Given the description of an element on the screen output the (x, y) to click on. 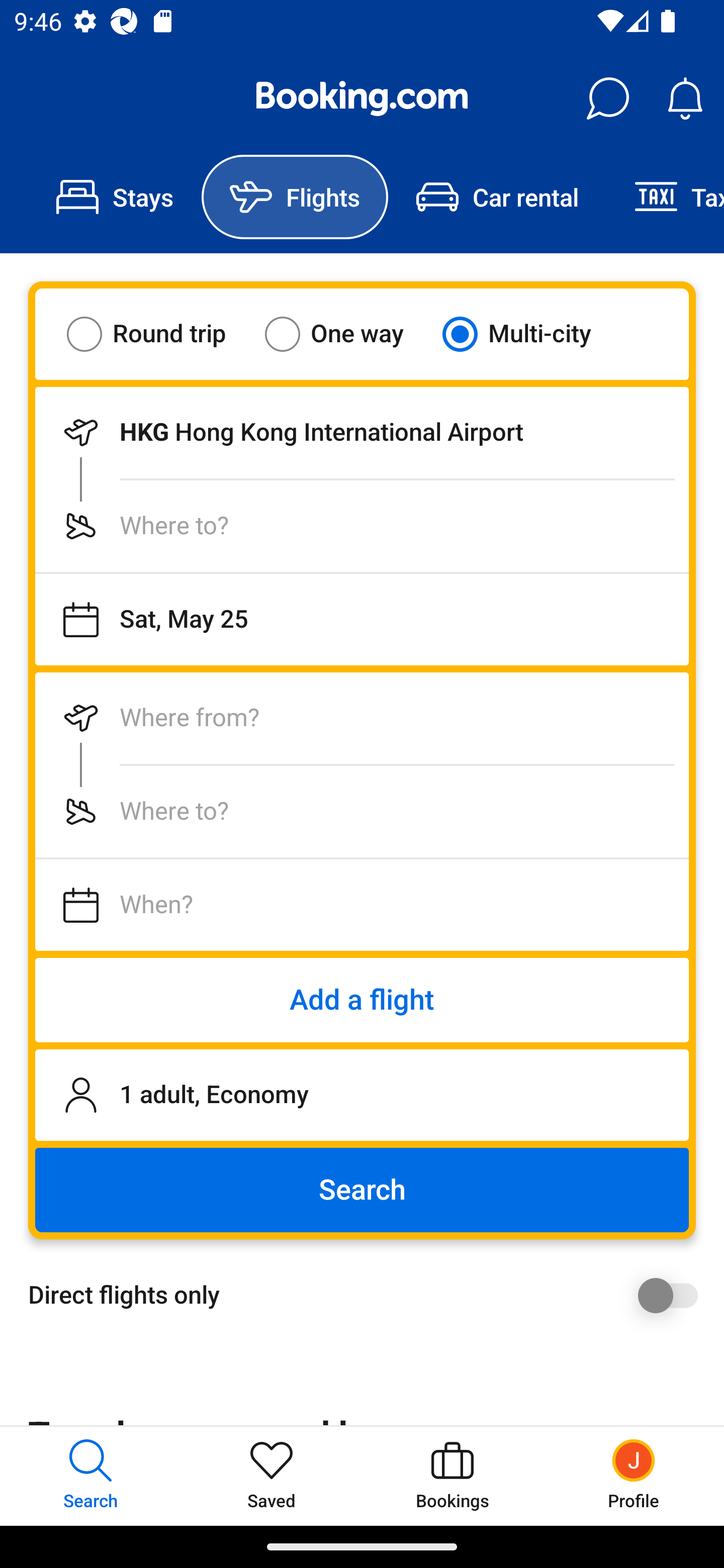
Messages (607, 98)
Notifications (685, 98)
Stays (114, 197)
Flights (294, 197)
Car rental (497, 197)
Taxi (665, 197)
Round trip (158, 333)
One way (346, 333)
Flight 1, flying to  (361, 525)
Flight 1 departing on Sat, May 25 (361, 618)
Flight 2, departing from  (361, 717)
Flight 2, flying to  (361, 811)
Flight 2 departing on Sat, May 25 (361, 904)
Add a flight (361, 1000)
1 adult, Economy (361, 1094)
Search (361, 1189)
Direct flights only (369, 1294)
Saved (271, 1475)
Bookings (452, 1475)
Profile (633, 1475)
